Given the description of an element on the screen output the (x, y) to click on. 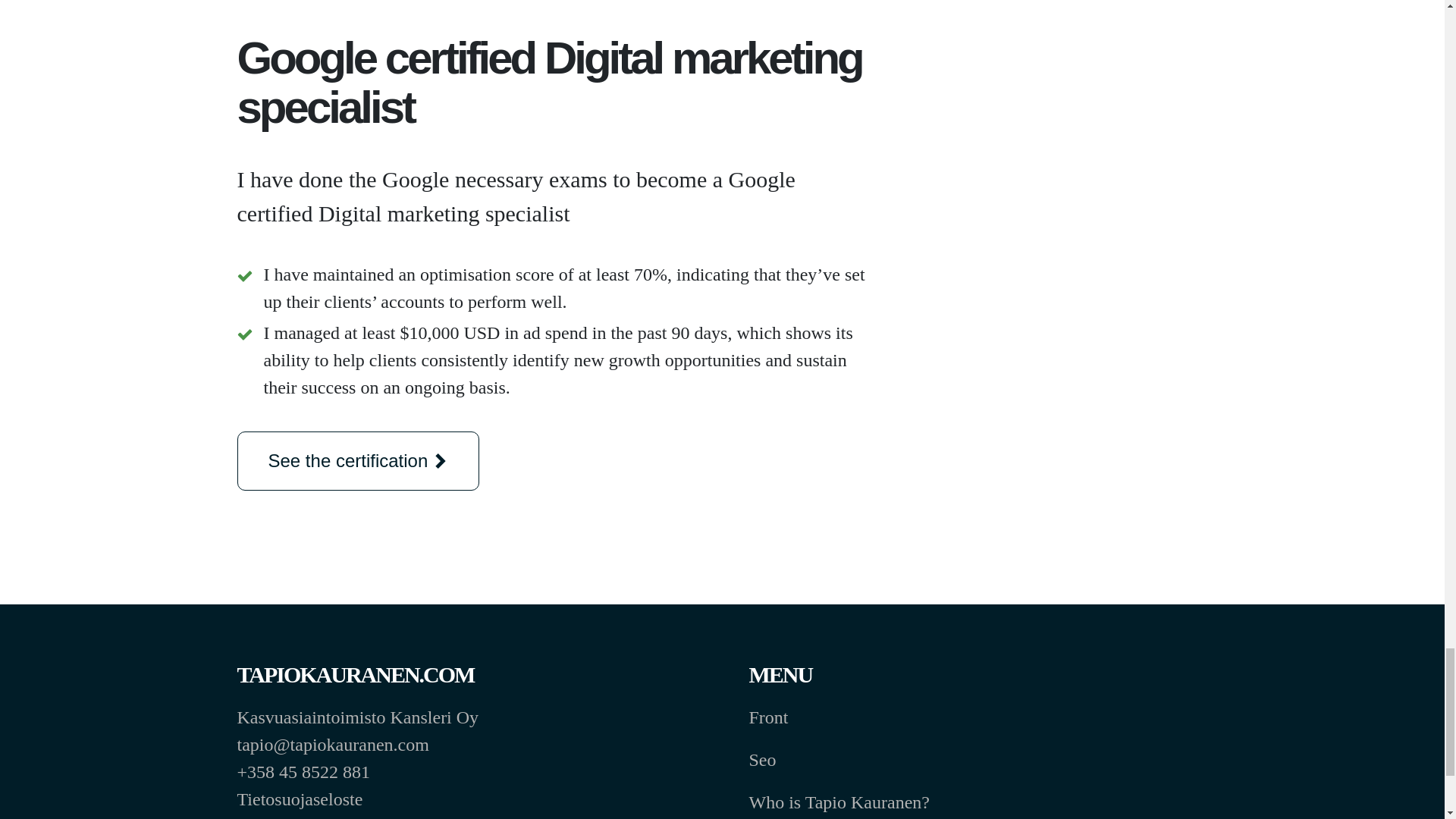
Tietosuojaseloste  (300, 799)
Kasvuasiaintoimisto Kansleri Oy (357, 717)
Seo (762, 759)
Who is Tapio Kauranen? (839, 802)
See the certification (357, 460)
Front (769, 717)
